Given the description of an element on the screen output the (x, y) to click on. 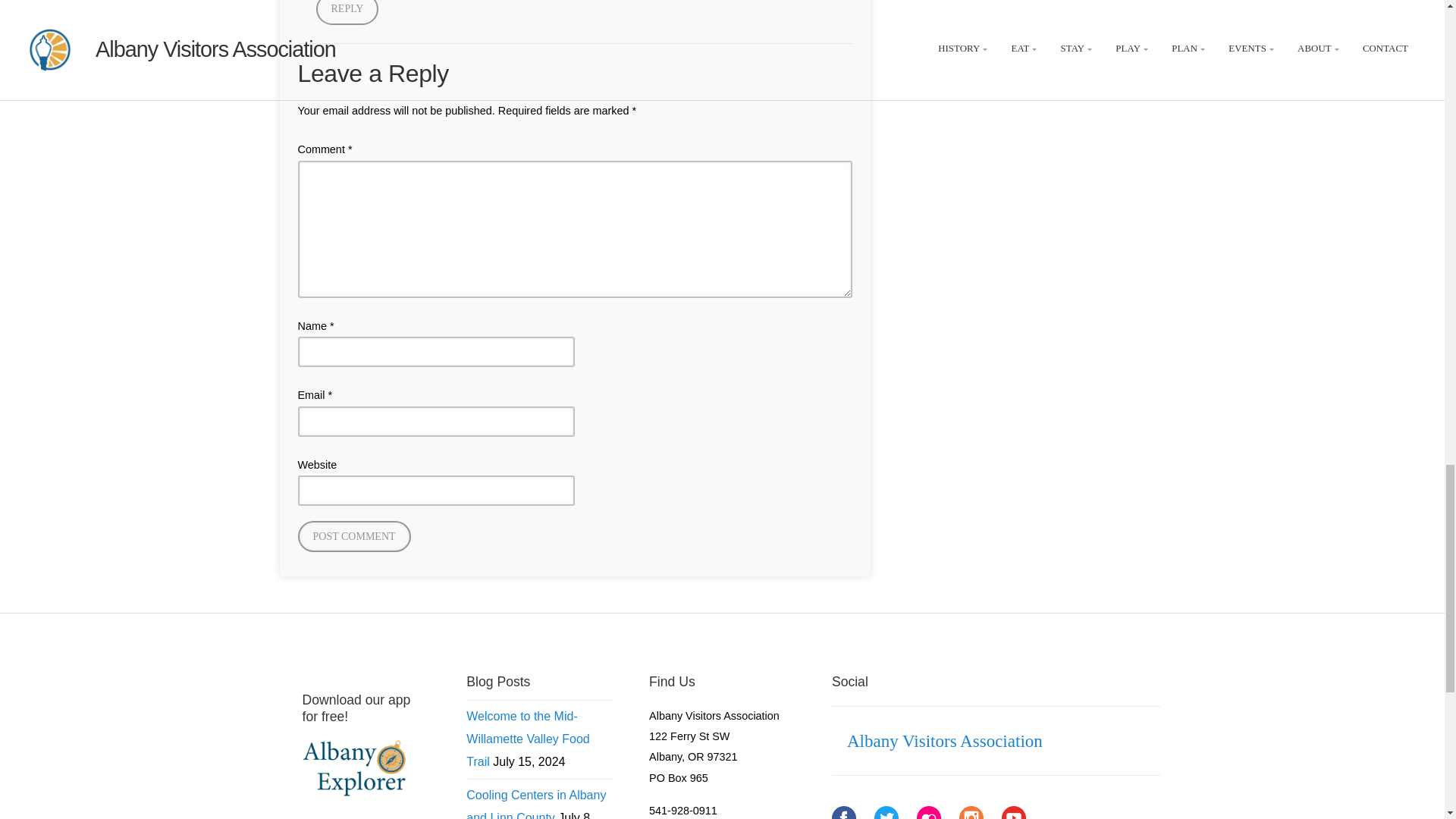
Post Comment (353, 536)
